Given the description of an element on the screen output the (x, y) to click on. 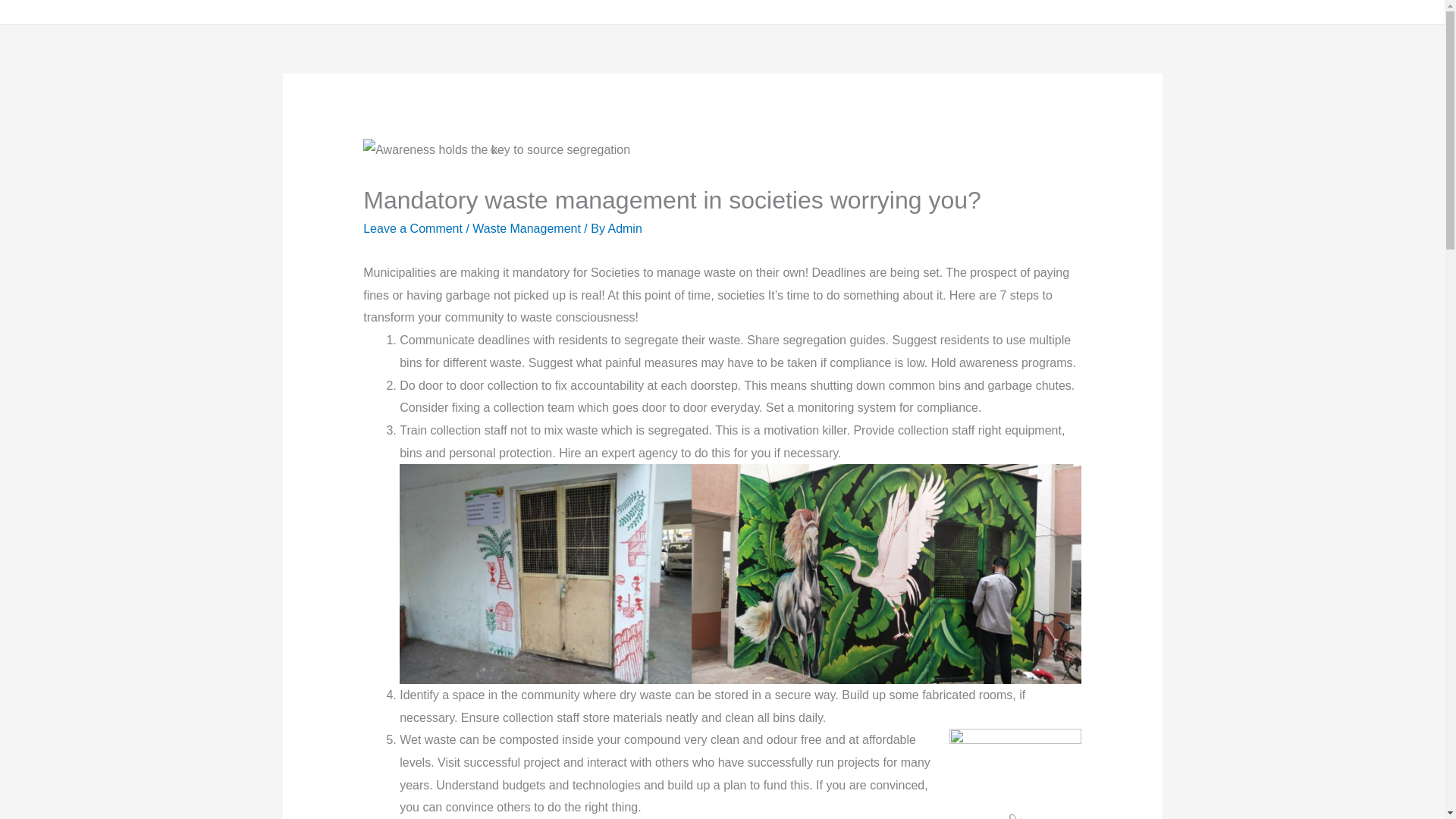
Leave a Comment (412, 228)
Waste Management (525, 228)
Admin (624, 228)
View all posts by Admin (624, 228)
